Given the description of an element on the screen output the (x, y) to click on. 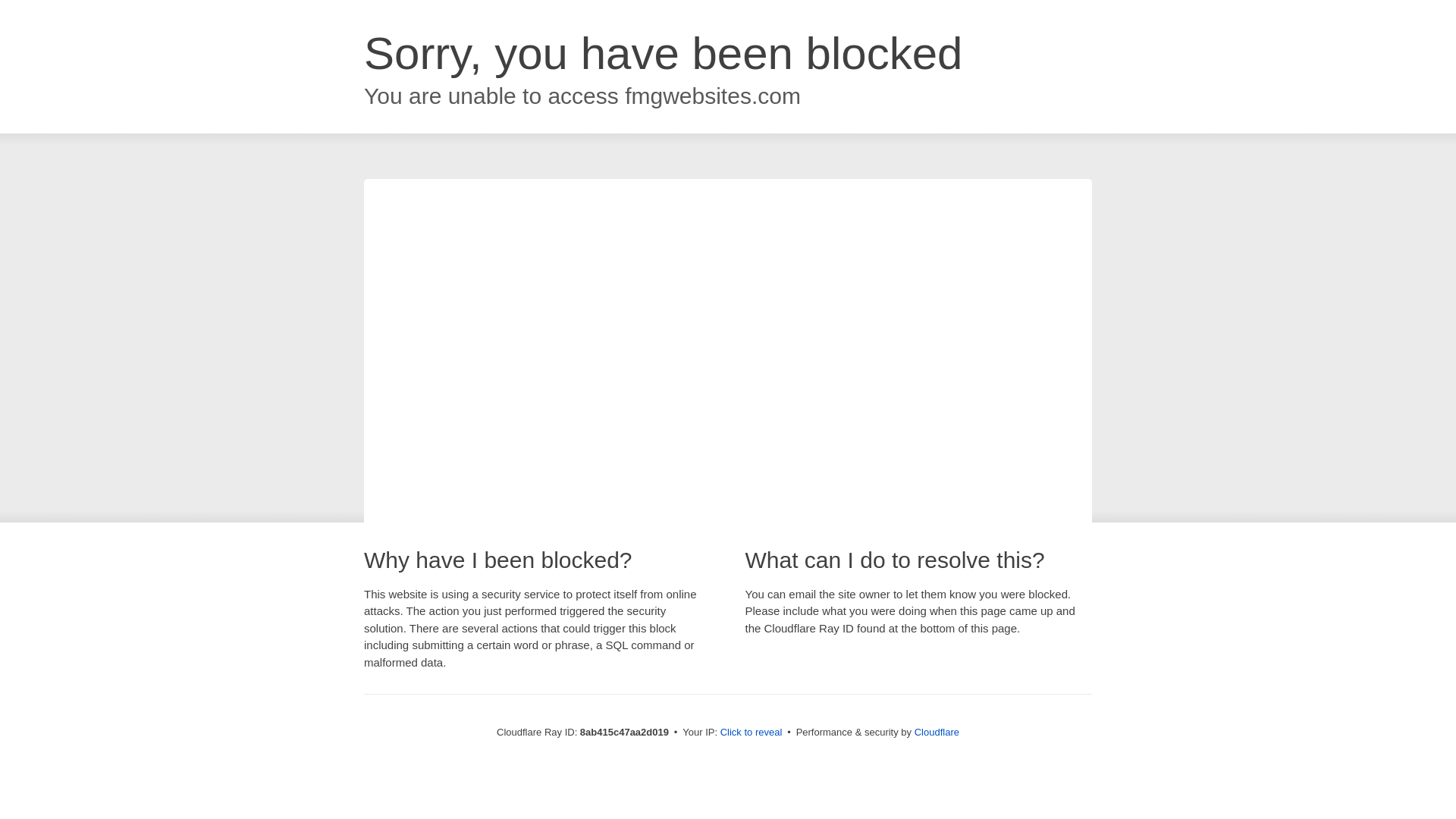
Click to reveal (751, 732)
Cloudflare (936, 731)
